Given the description of an element on the screen output the (x, y) to click on. 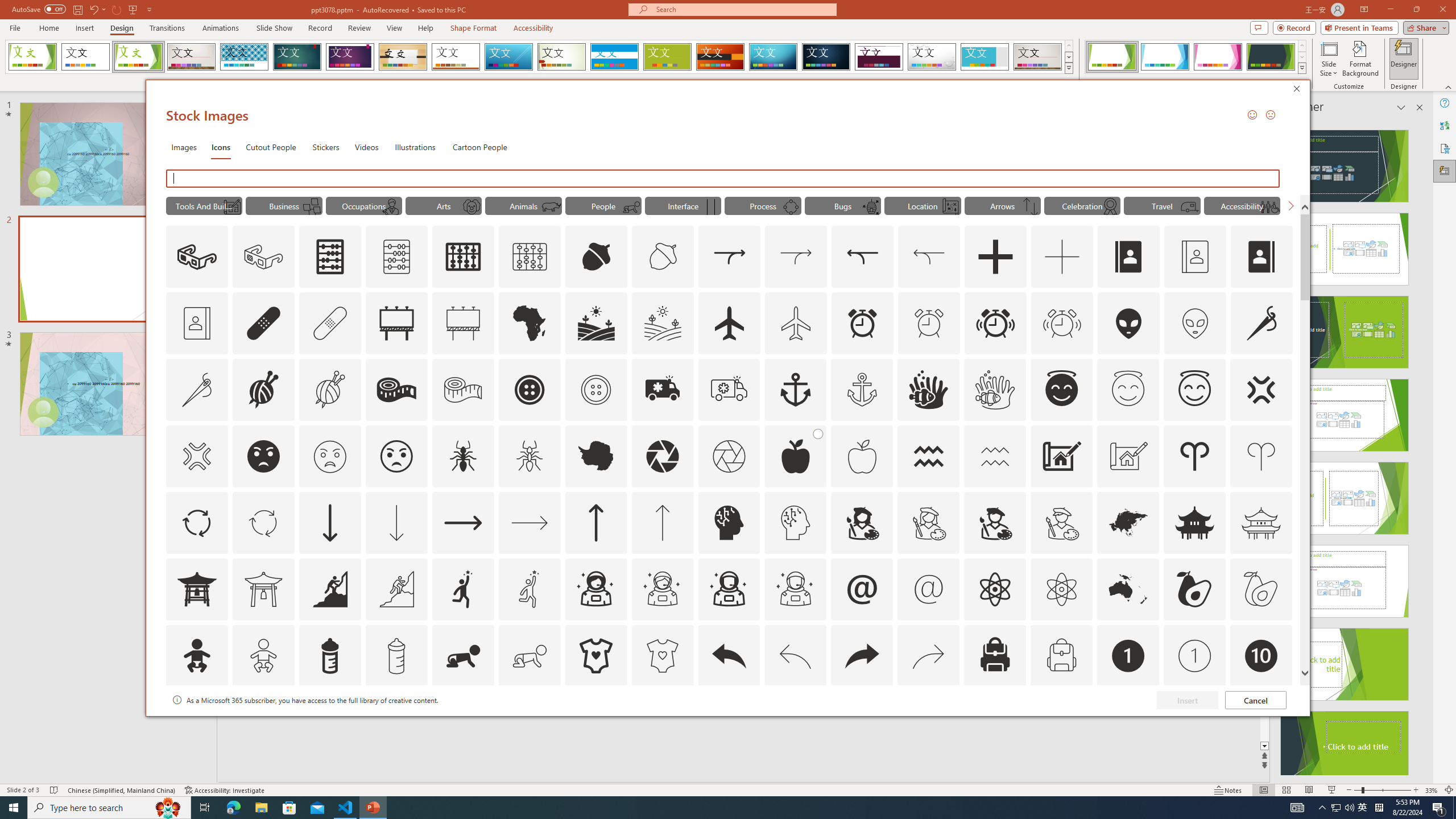
AutomationID: Icons_BabyBottle (329, 655)
AutomationID: Icons_Ant (462, 455)
AutomationID: Icons_Airplane (729, 323)
AutomationID: Icons_Ambulance (662, 389)
Frame (984, 56)
